Given the description of an element on the screen output the (x, y) to click on. 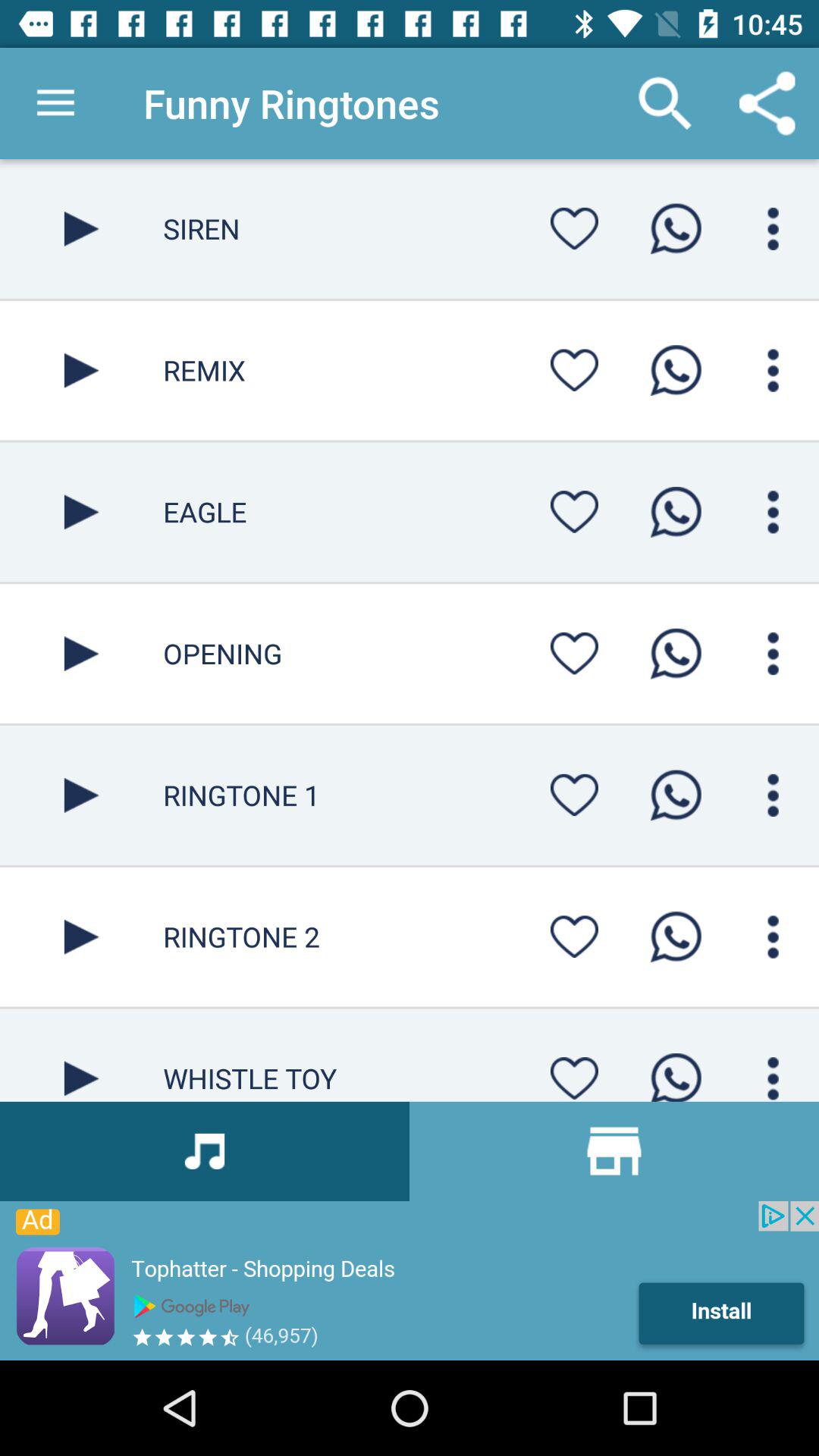
initiate phone call (675, 370)
